Given the description of an element on the screen output the (x, y) to click on. 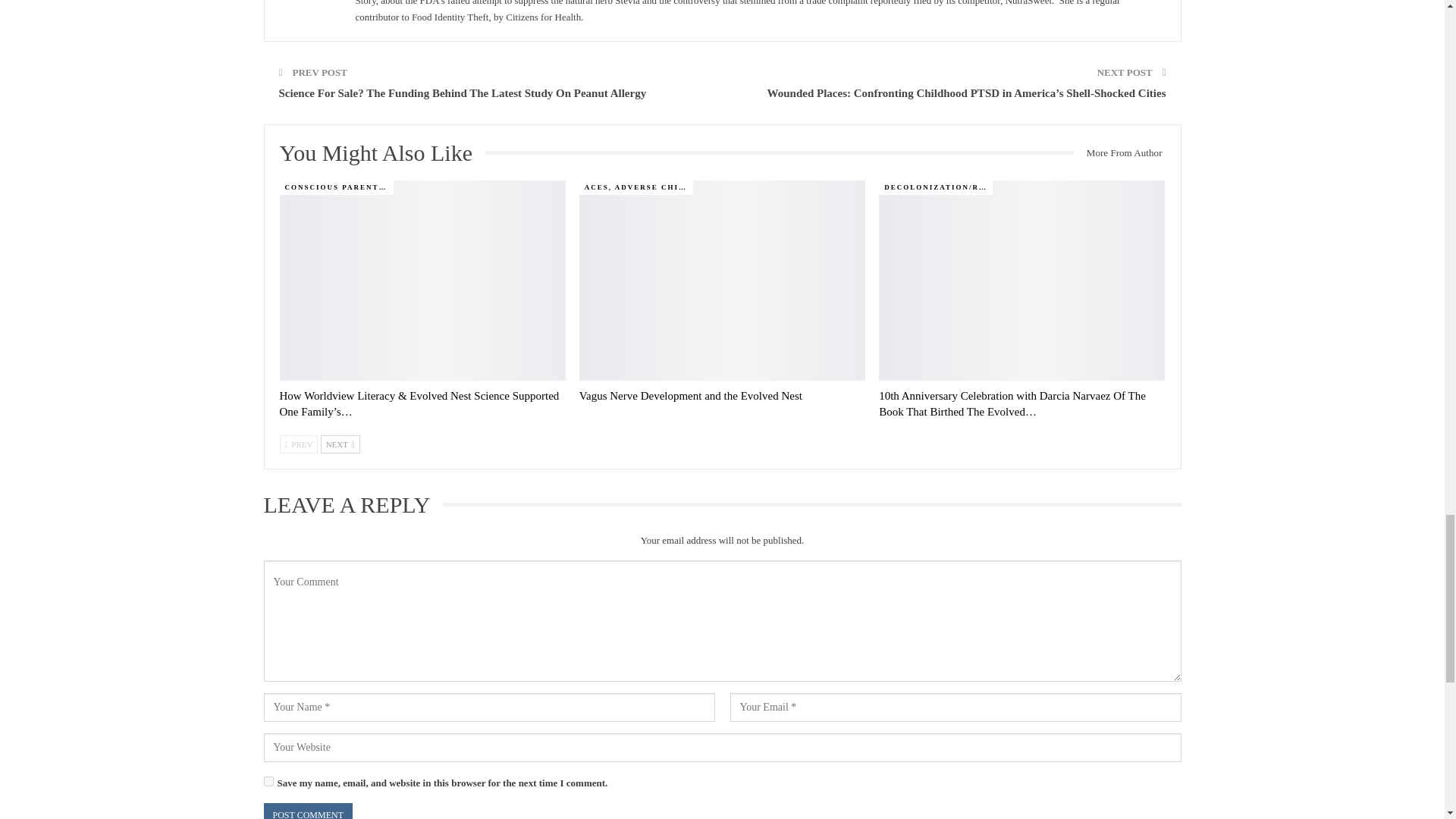
Vagus Nerve Development and the Evolved Nest (721, 280)
Previous (298, 443)
Next (339, 443)
Vagus Nerve Development and the Evolved Nest (690, 395)
yes (268, 781)
Post Comment (307, 811)
